Given the description of an element on the screen output the (x, y) to click on. 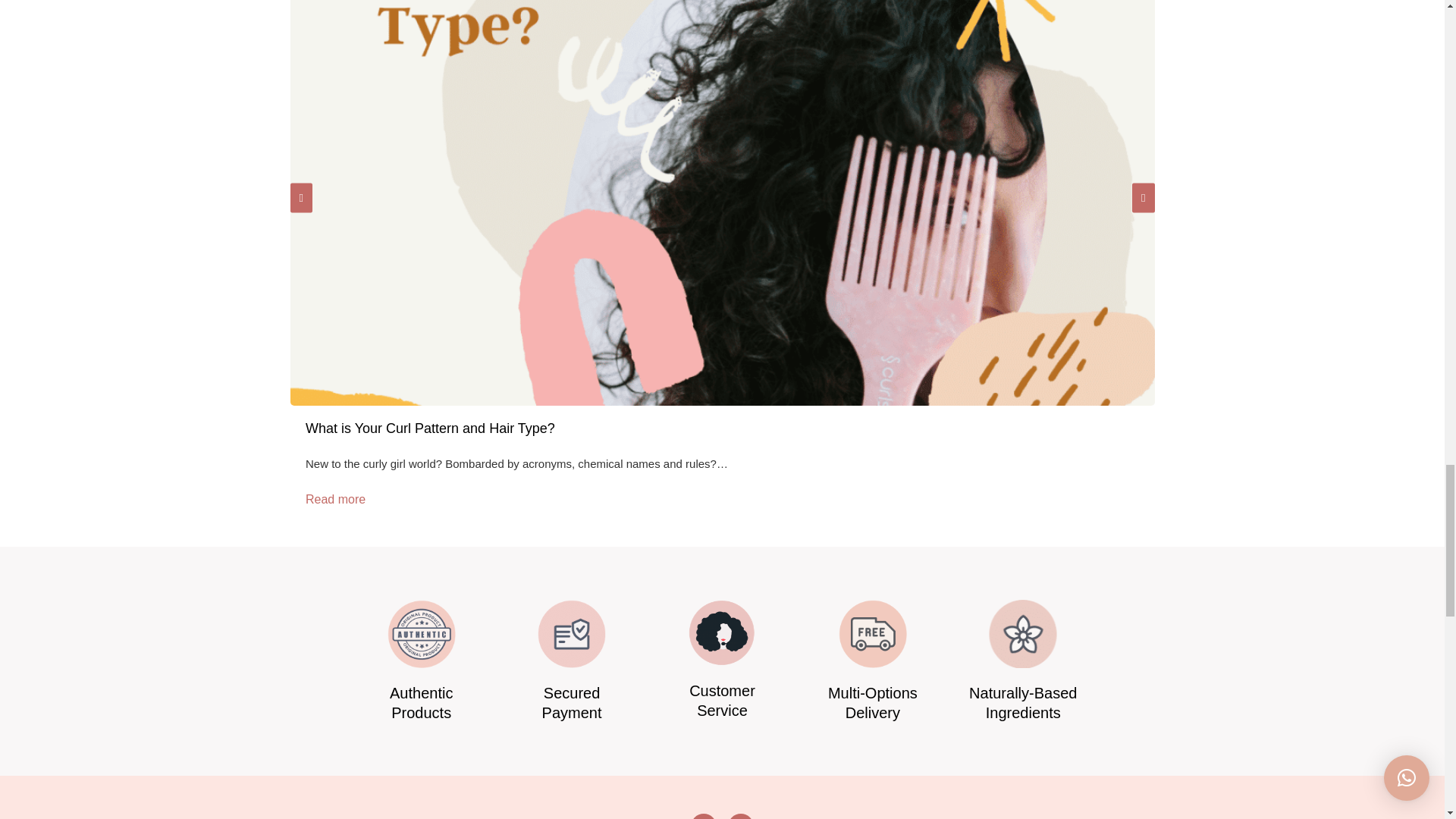
image-18.svg (721, 632)
